Given the description of an element on the screen output the (x, y) to click on. 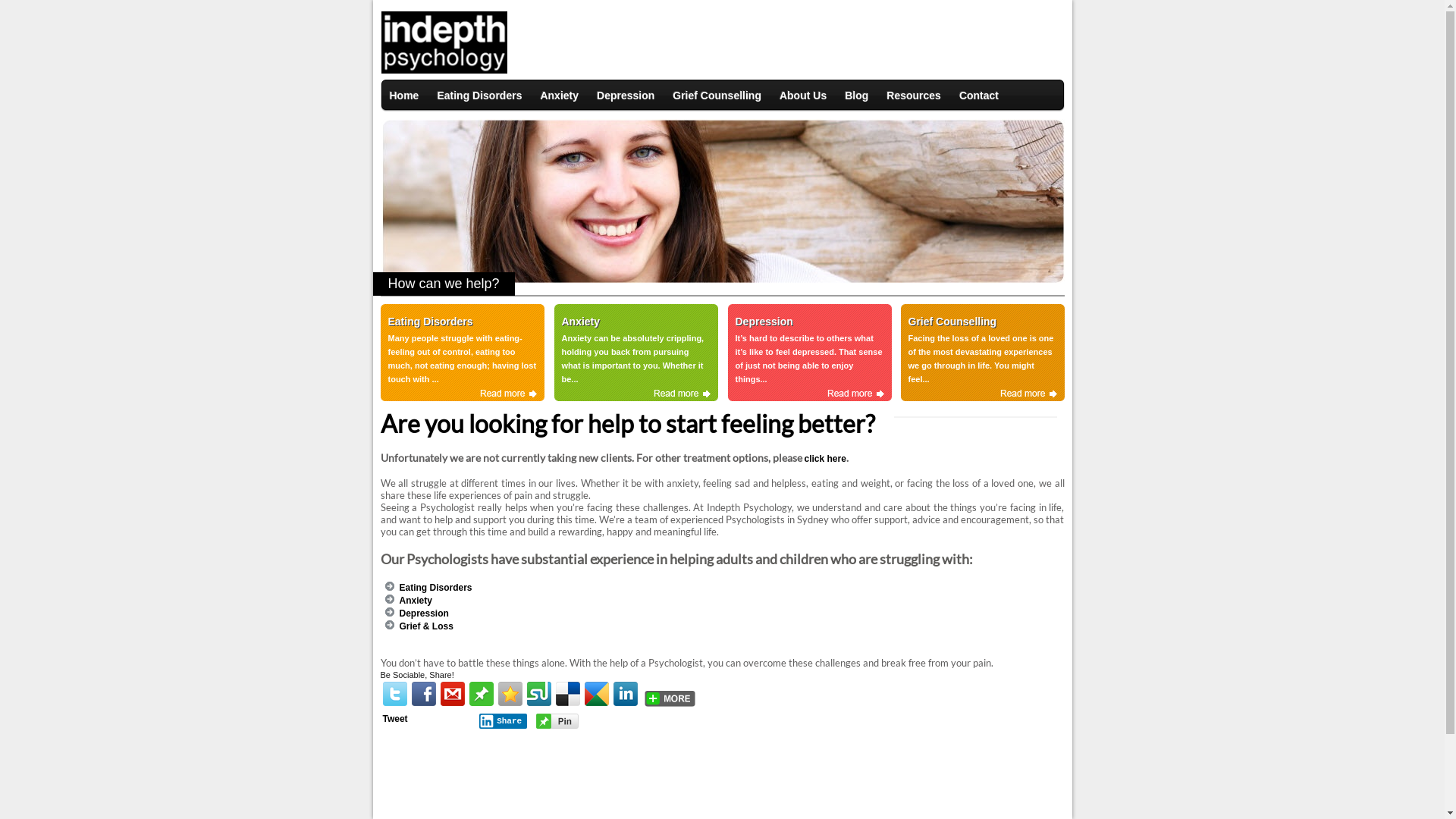
read more Element type: hover (507, 393)
Google Reader Element type: hover (595, 693)
Grief & Loss Element type: text (425, 626)
Anxiety Element type: text (414, 600)
Share Element type: text (503, 720)
Facebook Element type: hover (423, 693)
Tweet Element type: text (394, 718)
Anxiety Element type: text (558, 95)
Depression Element type: text (625, 95)
Home Element type: text (404, 95)
Contact Element type: text (978, 95)
Depression Element type: text (423, 613)
Eating Disorders Element type: text (478, 95)
indepthpsychology.com.au Element type: hover (443, 70)
read more Element type: hover (681, 393)
Grief Counselling Element type: text (716, 95)
Blog Element type: text (856, 95)
Add to favorites - doesn't work in Chrome Element type: hover (509, 693)
email Element type: hover (451, 693)
read more Element type: hover (854, 393)
read more Element type: hover (1027, 393)
Eating Disorders Element type: text (434, 587)
Resources Element type: text (913, 95)
click here Element type: text (824, 458)
Delicious Element type: hover (567, 693)
Twitter Element type: hover (394, 693)
LinkedIn Element type: hover (624, 693)
StumbleUpon Element type: hover (538, 693)
About Us Element type: text (802, 95)
